Given the description of an element on the screen output the (x, y) to click on. 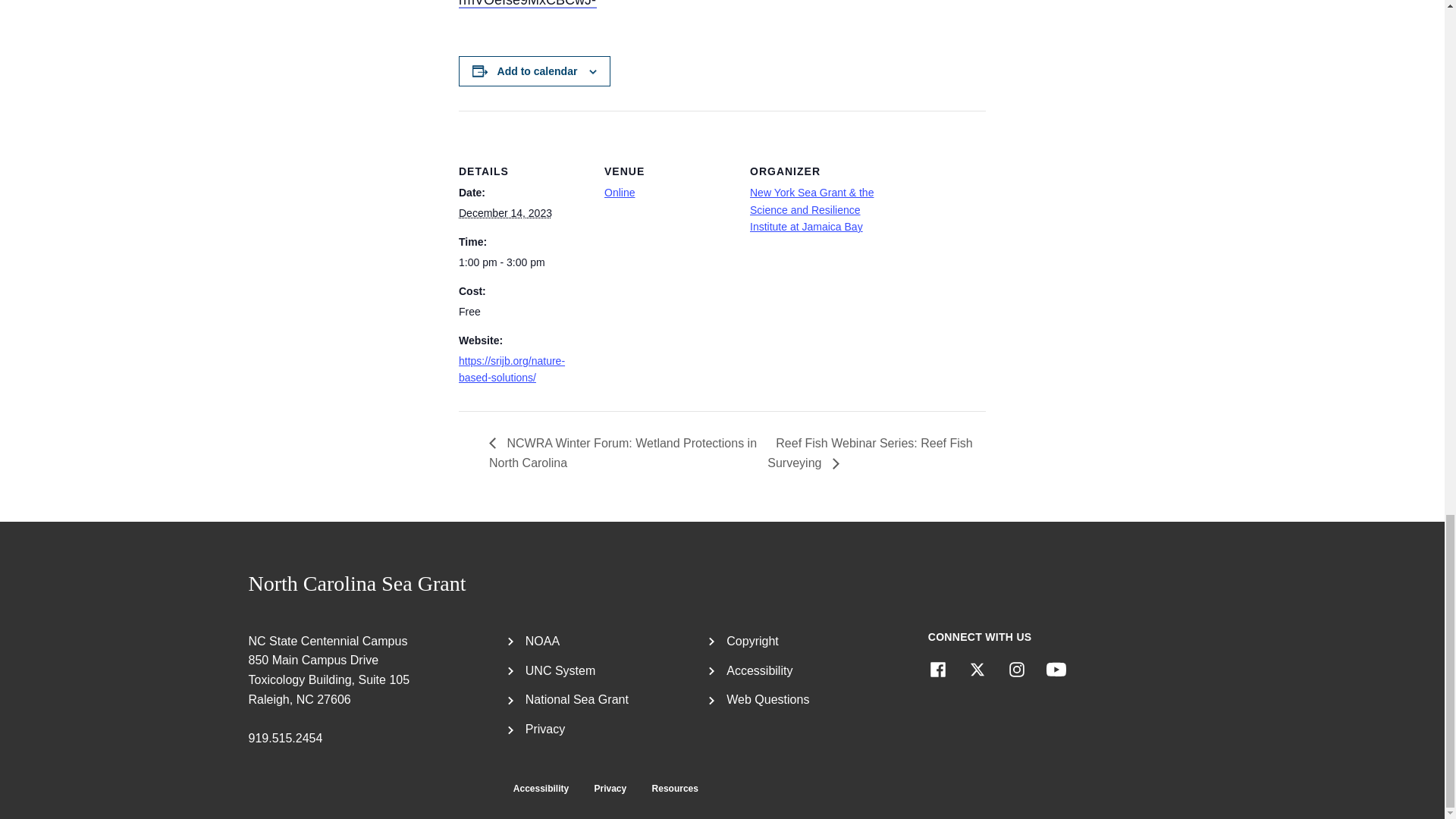
Facebook (937, 669)
YouTube (1055, 669)
X (977, 669)
2023-12-14 (522, 262)
2023-12-14 (504, 213)
Instagram (1016, 669)
